Given the description of an element on the screen output the (x, y) to click on. 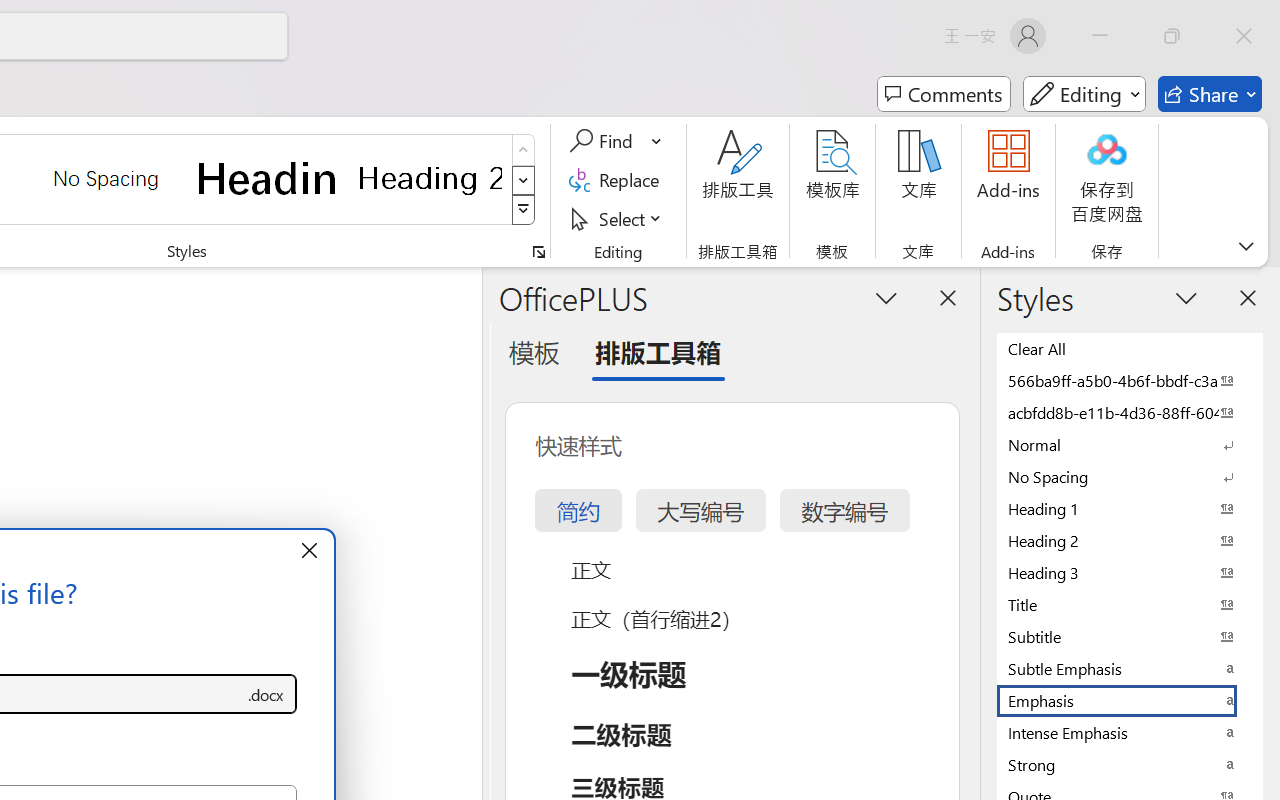
Emphasis (1130, 700)
Strong (1130, 764)
Heading 3 (1130, 572)
Restore Down (1172, 36)
Row up (523, 150)
Styles... (538, 252)
Styles (523, 209)
Task Pane Options (886, 297)
